Given the description of an element on the screen output the (x, y) to click on. 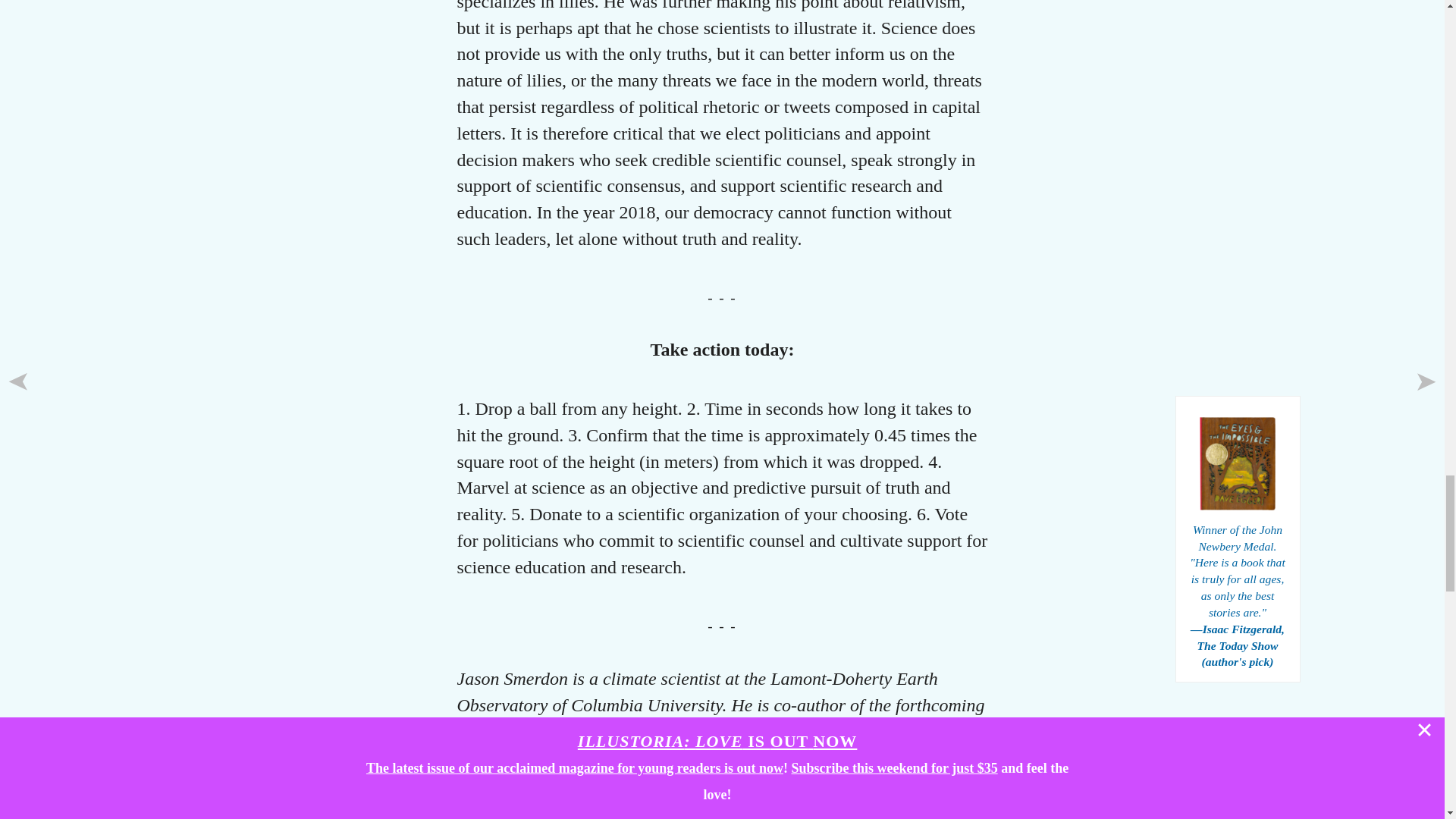
Science (592, 812)
Election 2018 (529, 812)
